Given the description of an element on the screen output the (x, y) to click on. 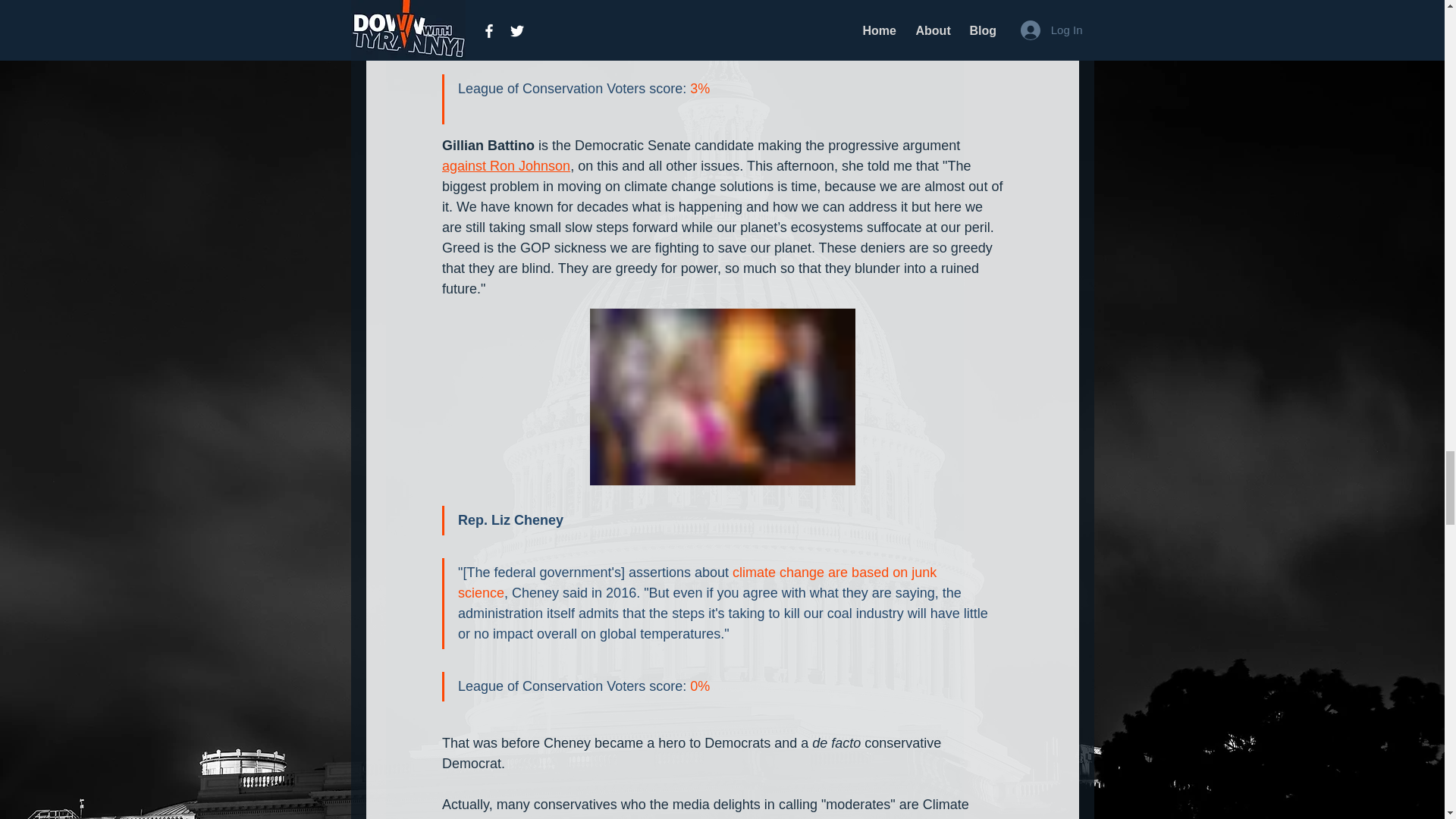
Johnson said on a radio show in 2016 (708, 11)
climate change are based on junk science (699, 582)
against Ron Johnson (505, 165)
